Given the description of an element on the screen output the (x, y) to click on. 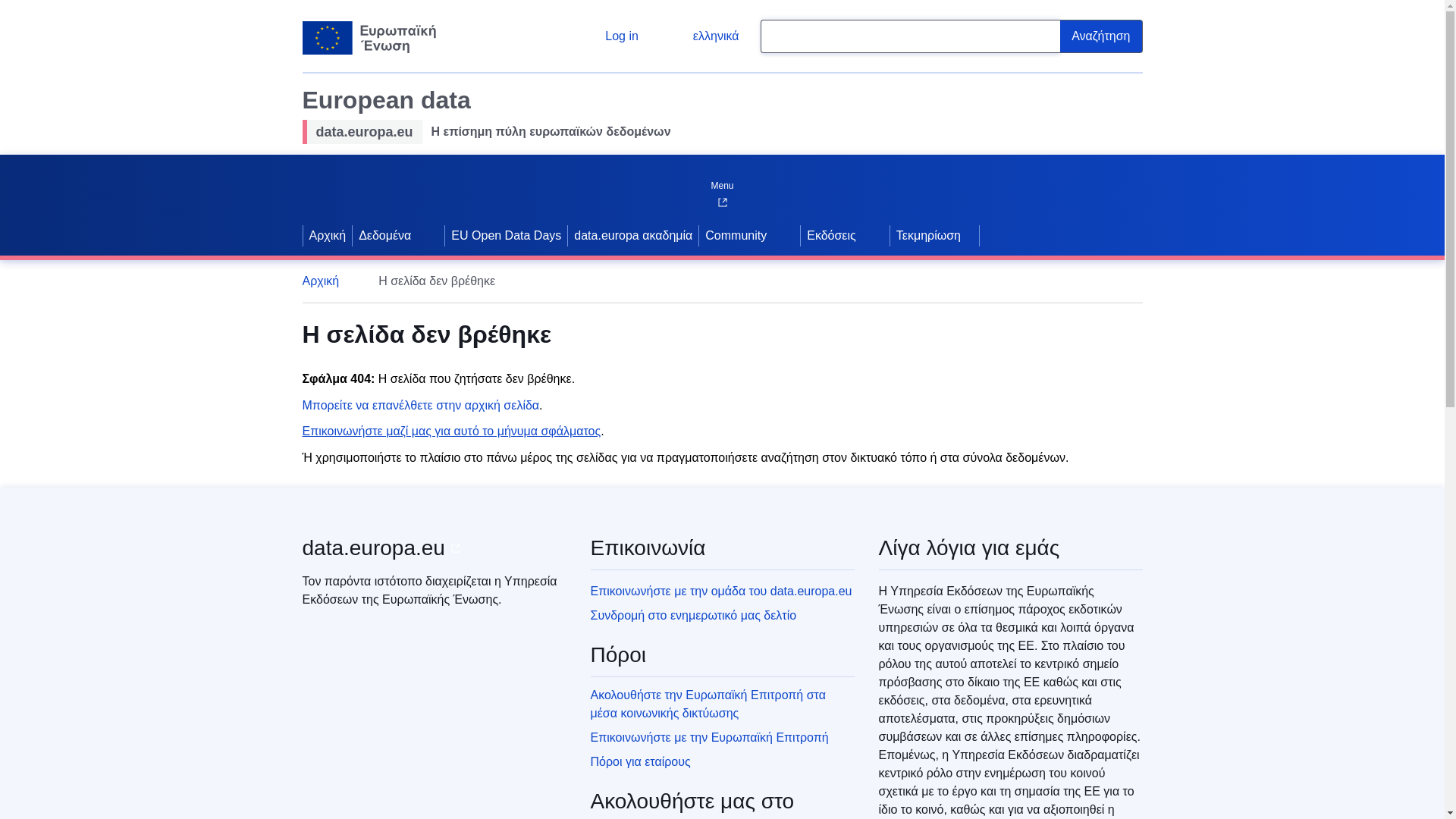
EU Open Data Days (506, 235)
Menu (721, 181)
European Union (368, 37)
Log in (609, 36)
Community (734, 235)
